Given the description of an element on the screen output the (x, y) to click on. 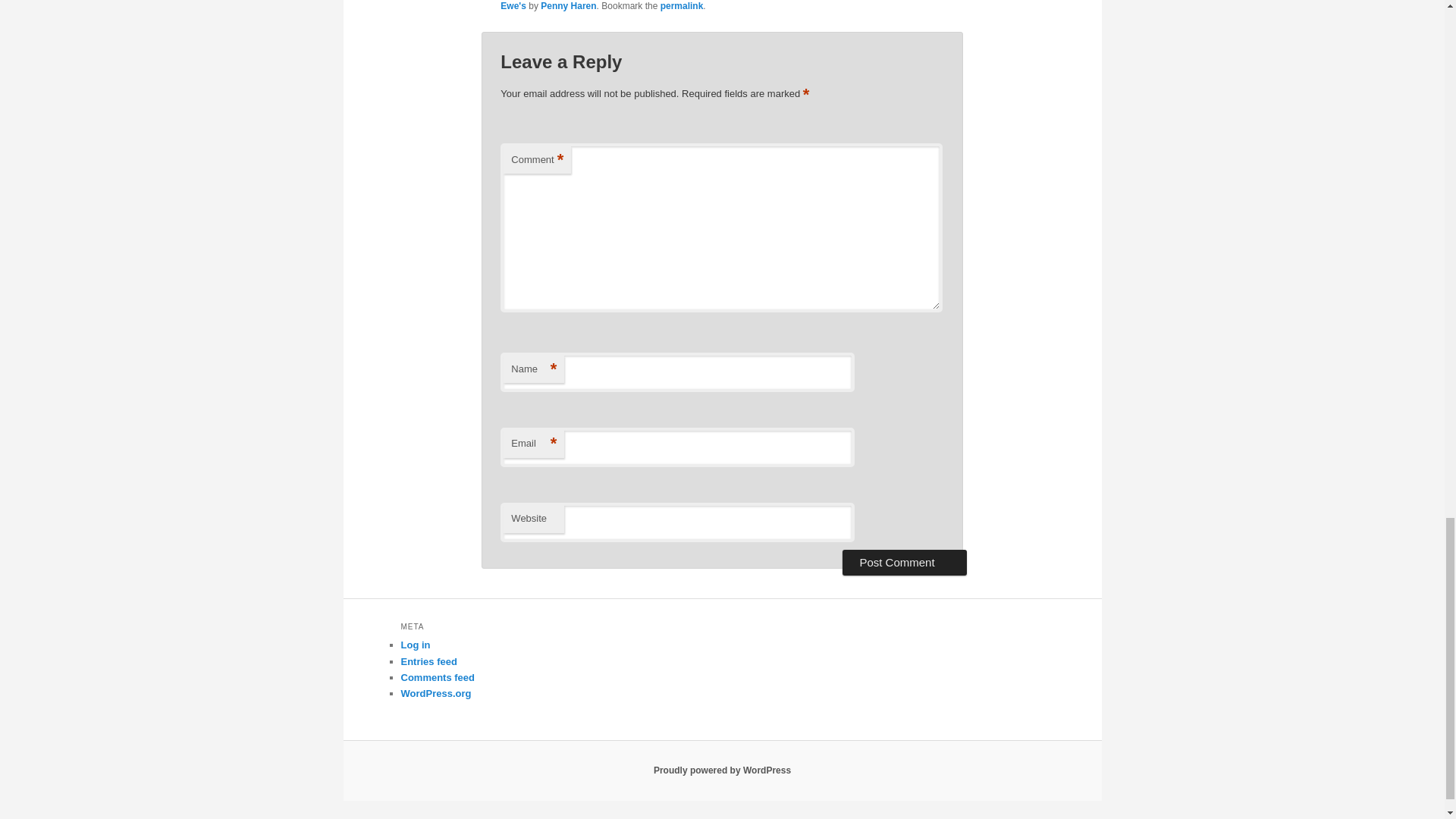
Post Comment (904, 562)
WordPress.org (435, 693)
Wee Woolie Ewe's (713, 5)
Comments feed (437, 677)
Semantic Personal Publishing Platform (721, 769)
Penny Haren (567, 5)
Post Comment (904, 562)
Proudly powered by WordPress (721, 769)
Entries feed (428, 661)
Log in (414, 644)
permalink (682, 5)
